Given the description of an element on the screen output the (x, y) to click on. 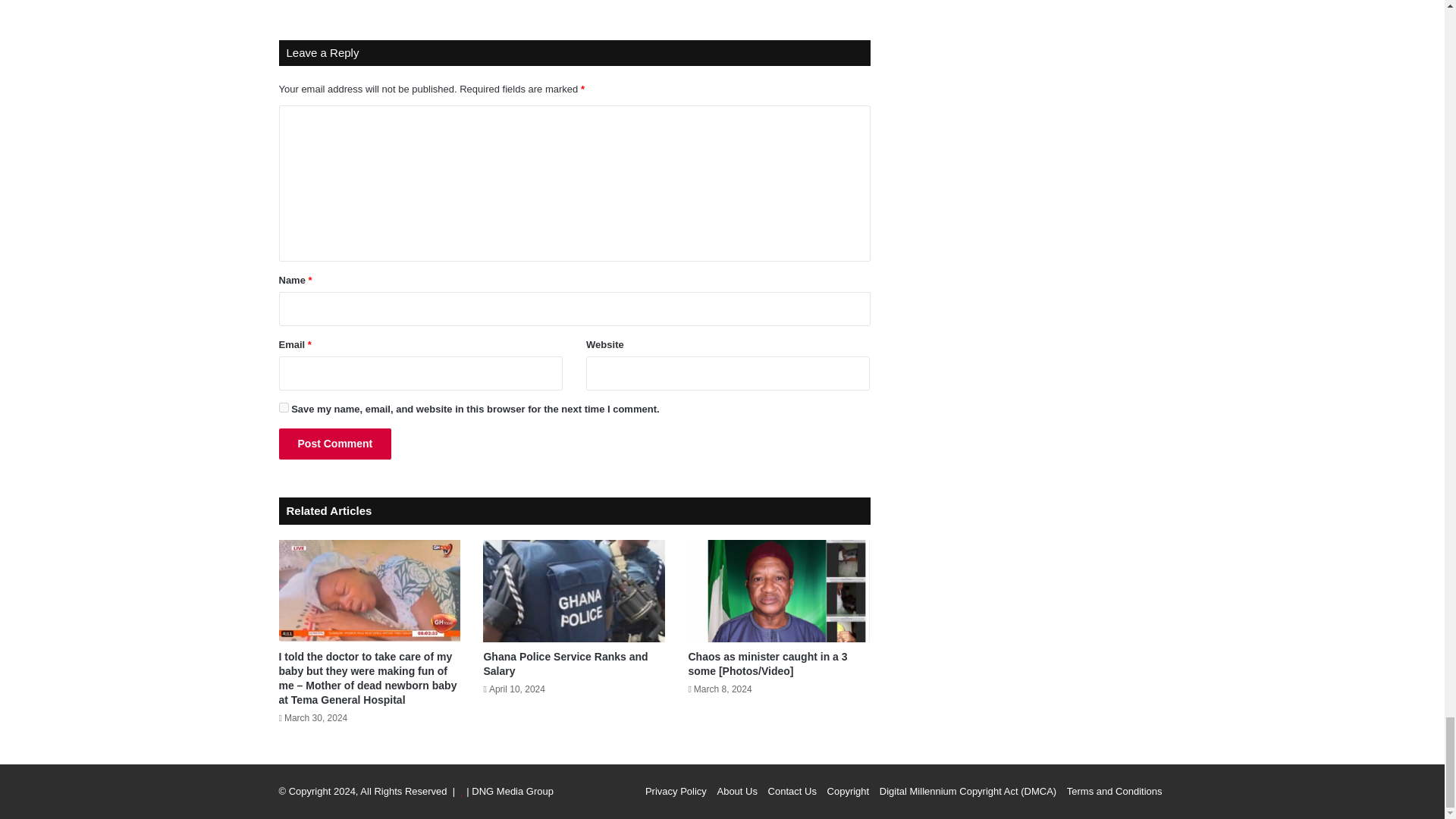
Post Comment (335, 443)
yes (283, 407)
Post Comment (335, 443)
